Given the description of an element on the screen output the (x, y) to click on. 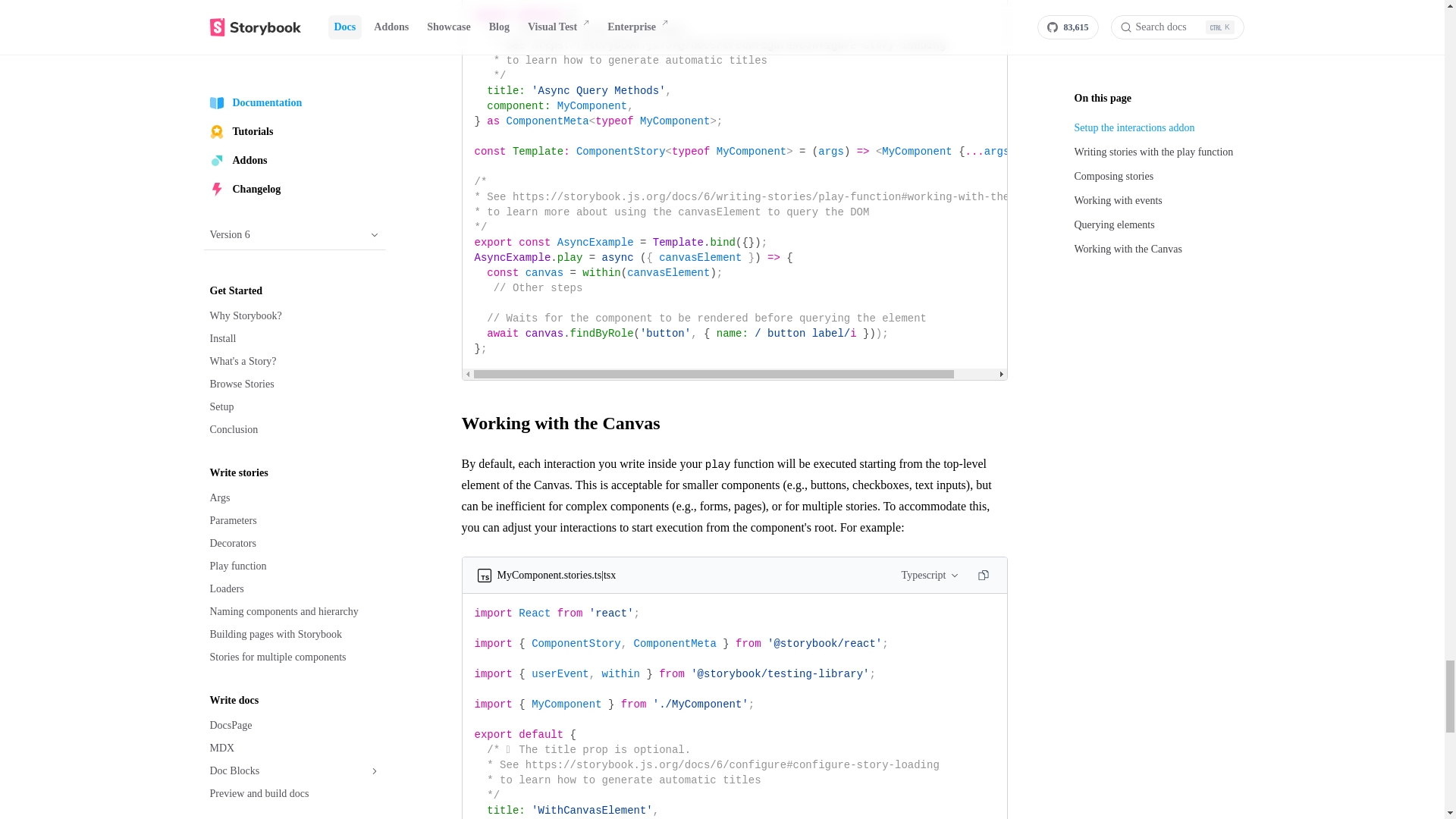
Working with the Canvas (734, 422)
